Given the description of an element on the screen output the (x, y) to click on. 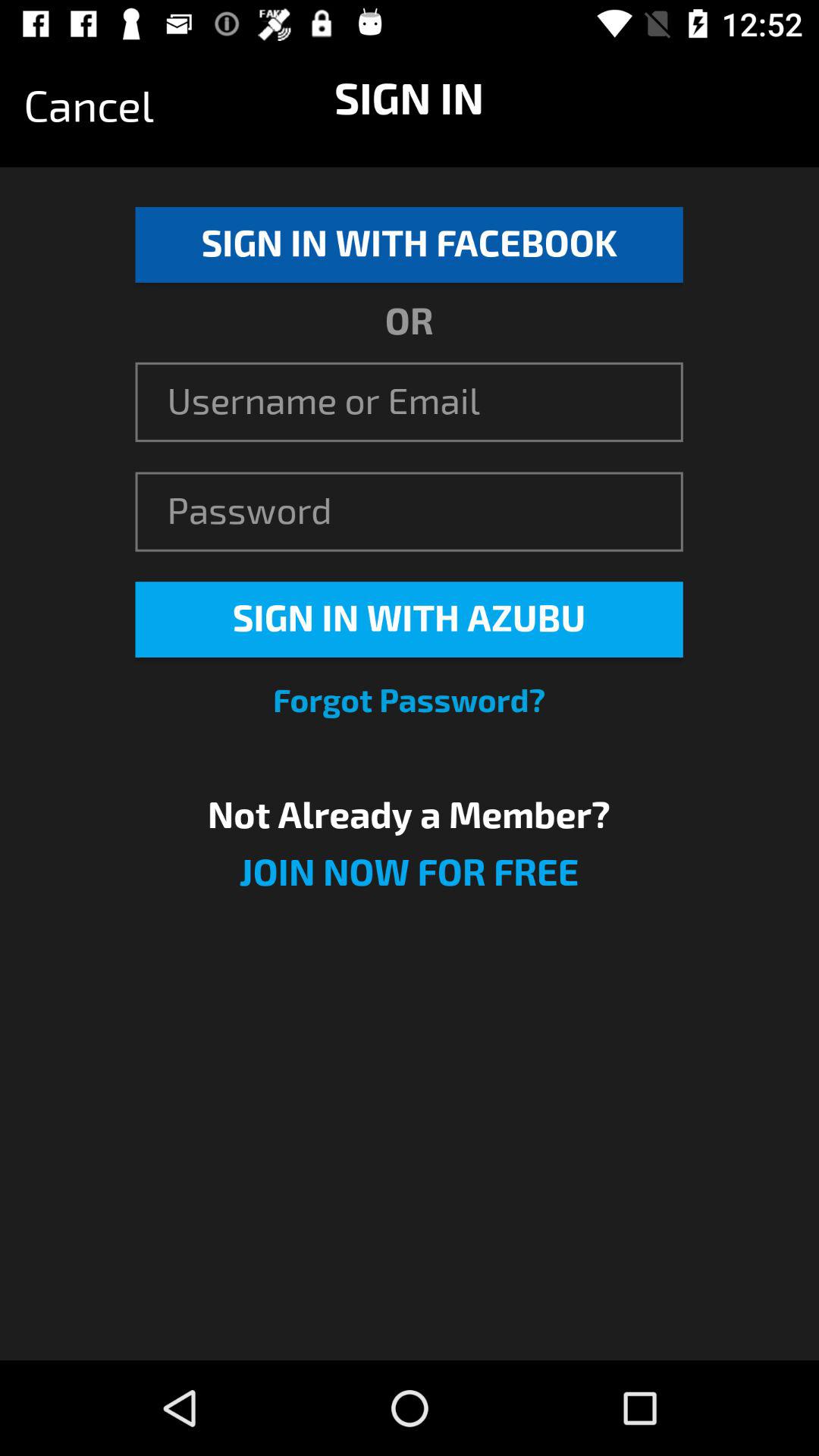
flip until the join now for icon (408, 882)
